Given the description of an element on the screen output the (x, y) to click on. 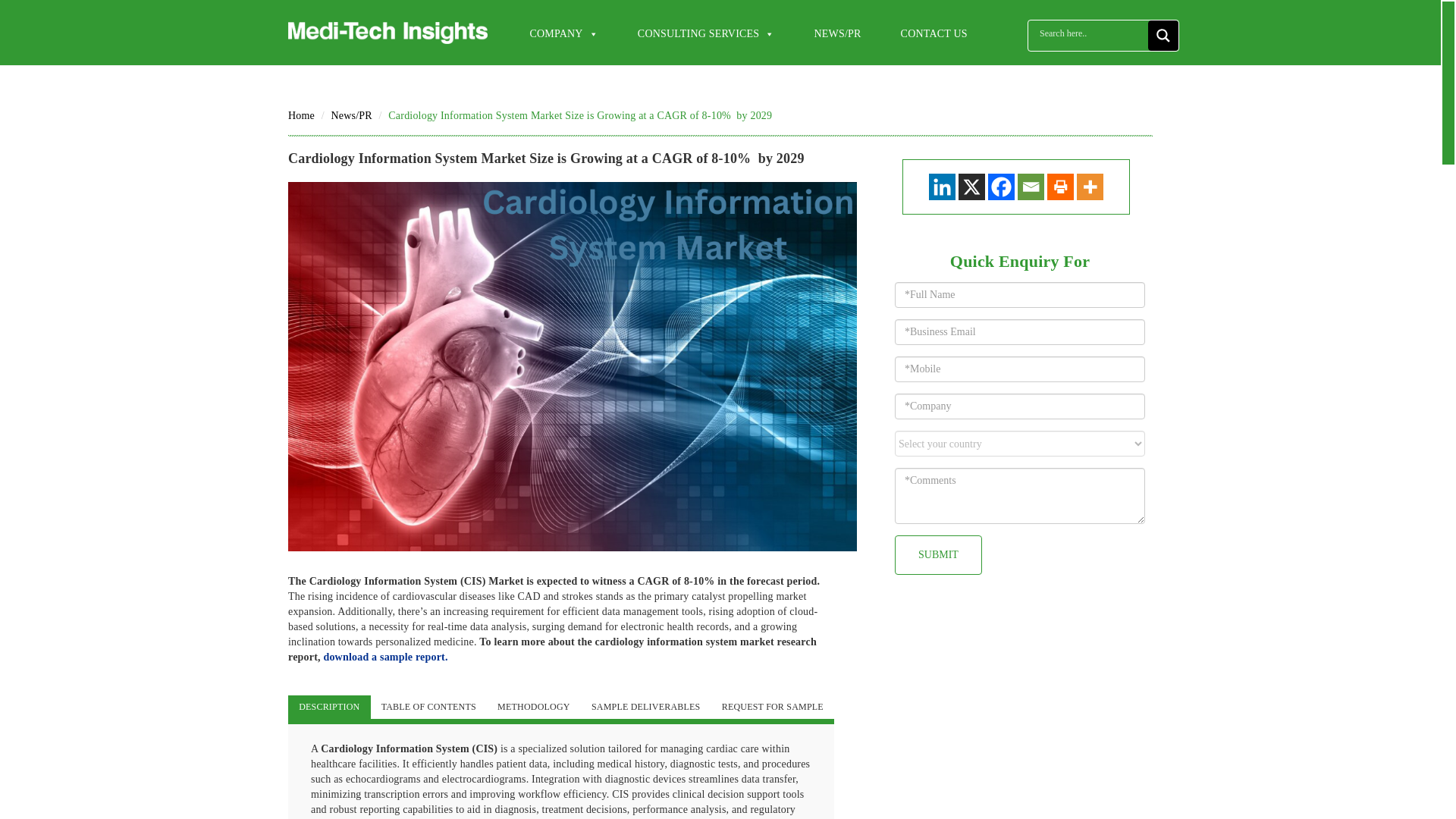
Linkedin (941, 186)
TABLE OF CONTENTS (428, 707)
Submit (938, 554)
CONTACT US (933, 33)
download a sample report. (384, 656)
COMPANY (564, 33)
METHODOLOGY (533, 707)
DESCRIPTION (329, 707)
CONSULTING SERVICES (705, 33)
Home (301, 115)
X (971, 186)
